Given the description of an element on the screen output the (x, y) to click on. 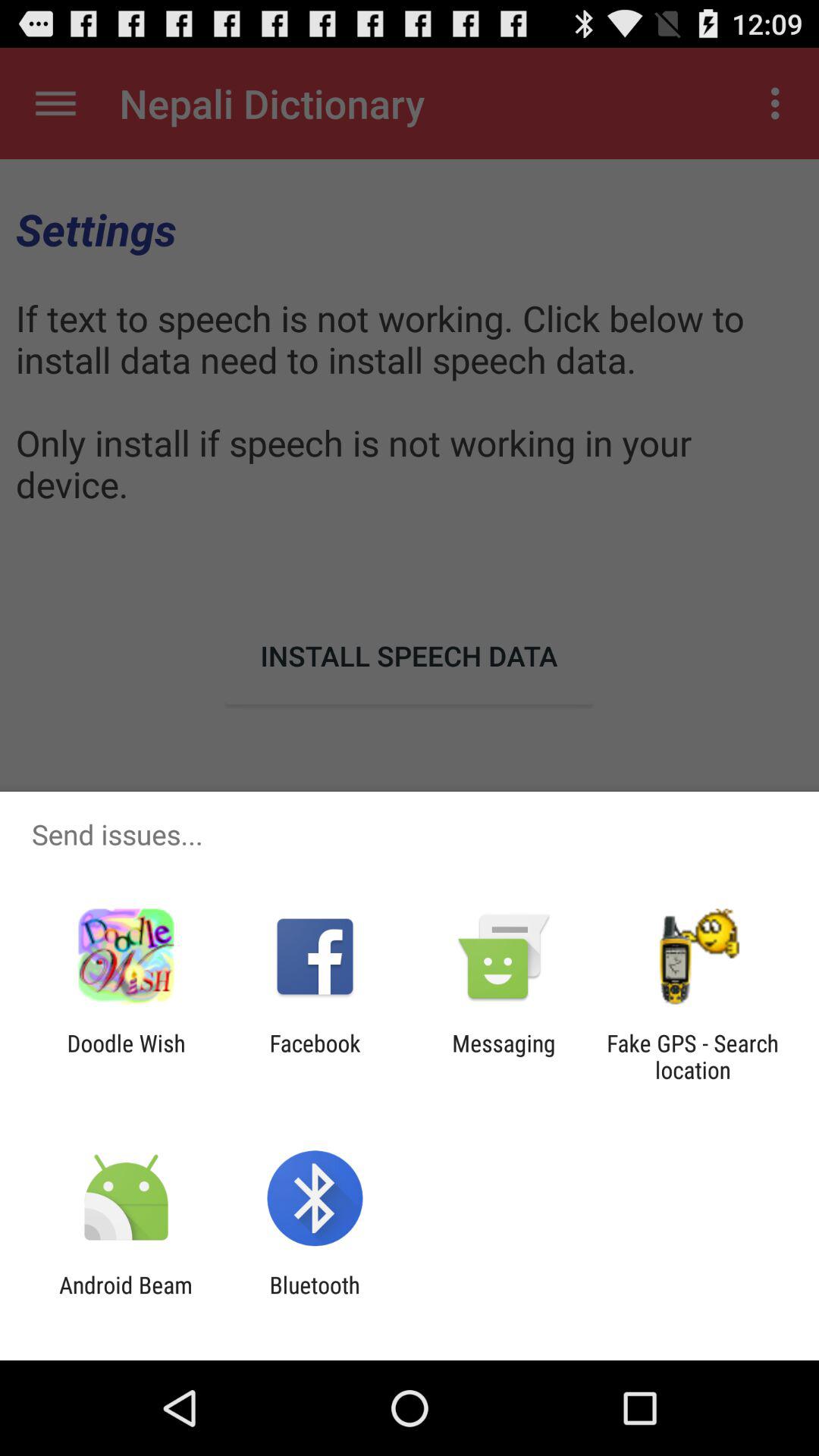
turn on the icon next to the facebook icon (126, 1056)
